Given the description of an element on the screen output the (x, y) to click on. 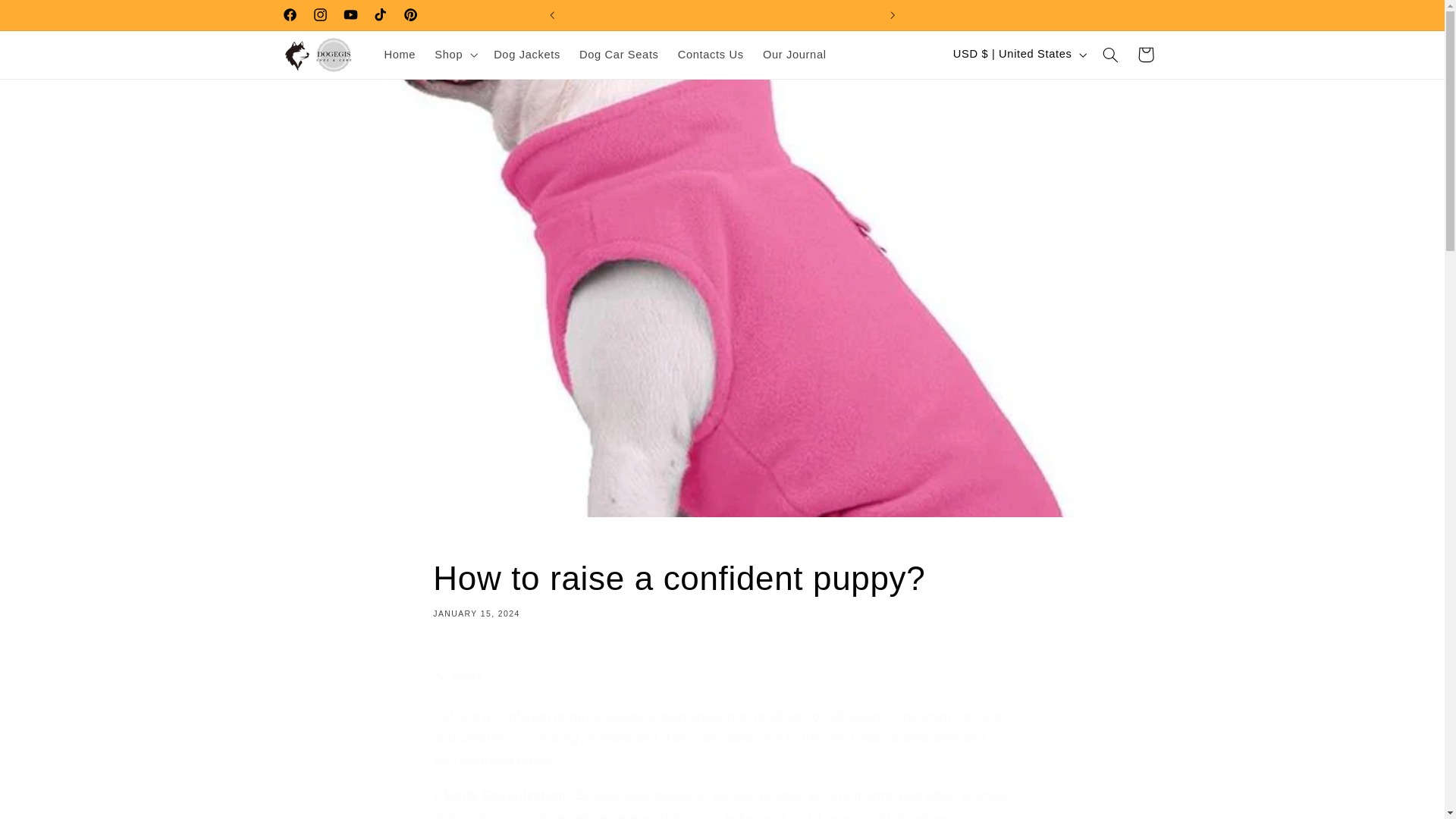
TikTok (380, 15)
Share (721, 675)
Dog Car Seats (618, 54)
Instagram (319, 15)
Dog Jackets (527, 54)
Home (399, 54)
Pinterest (411, 15)
YouTube (349, 15)
Our Journal (793, 54)
Contacts Us (710, 54)
Facebook (289, 15)
Skip to content (721, 588)
